Given the description of an element on the screen output the (x, y) to click on. 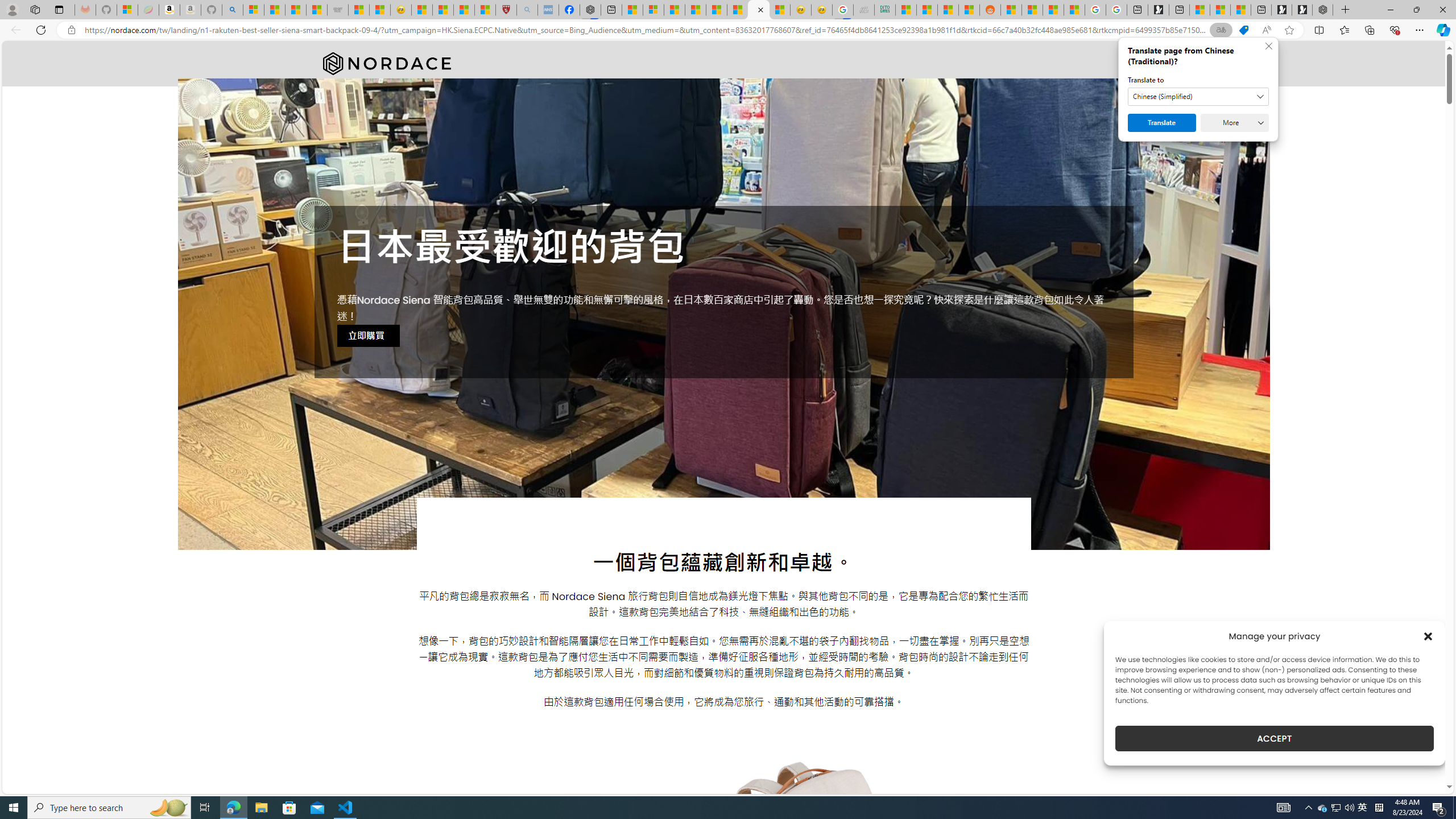
Translate (1161, 122)
